Given the description of an element on the screen output the (x, y) to click on. 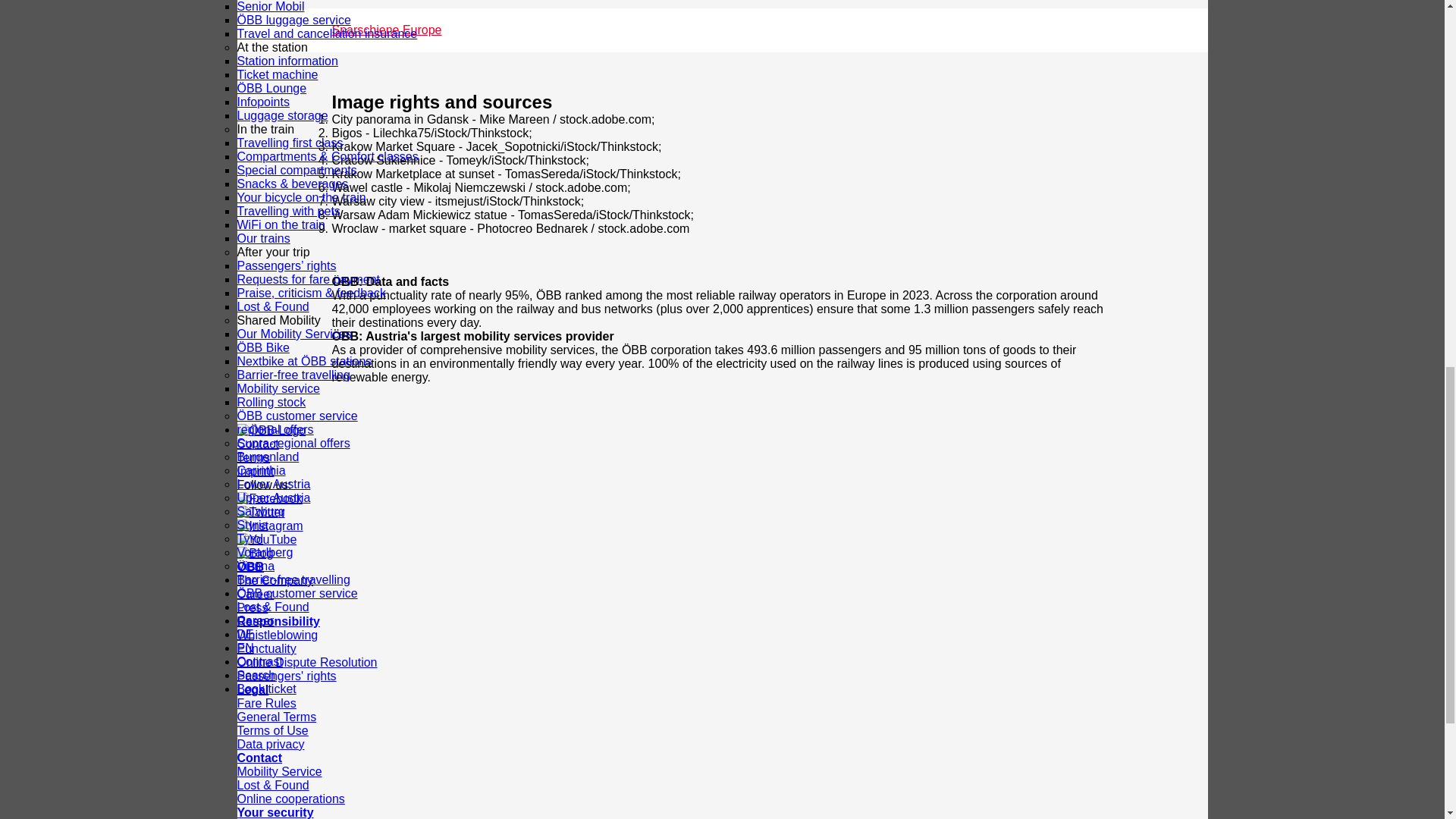
External website (254, 620)
Barrier-free travelling (292, 579)
